Given the description of an element on the screen output the (x, y) to click on. 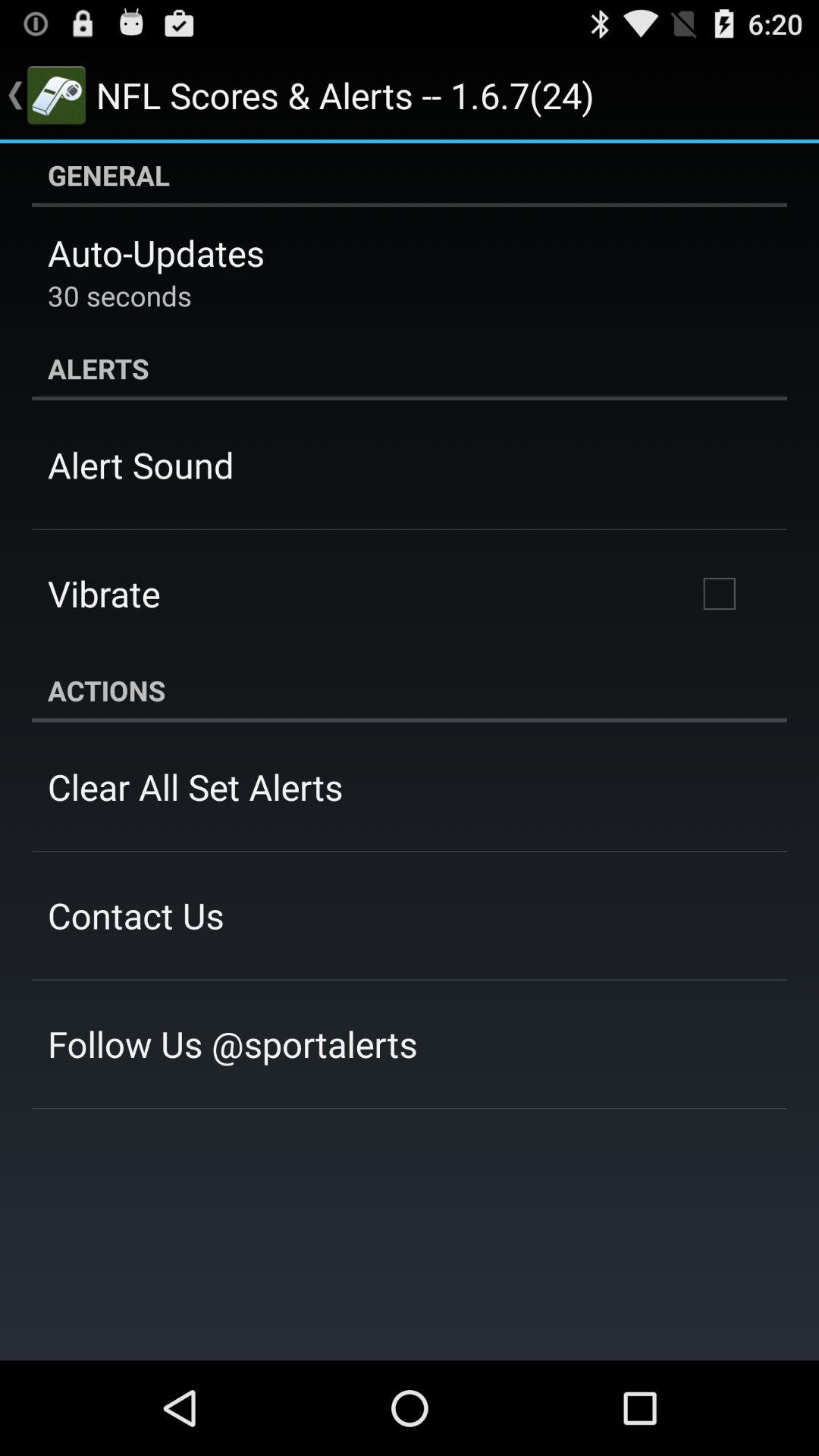
press app at the bottom left corner (232, 1043)
